Given the description of an element on the screen output the (x, y) to click on. 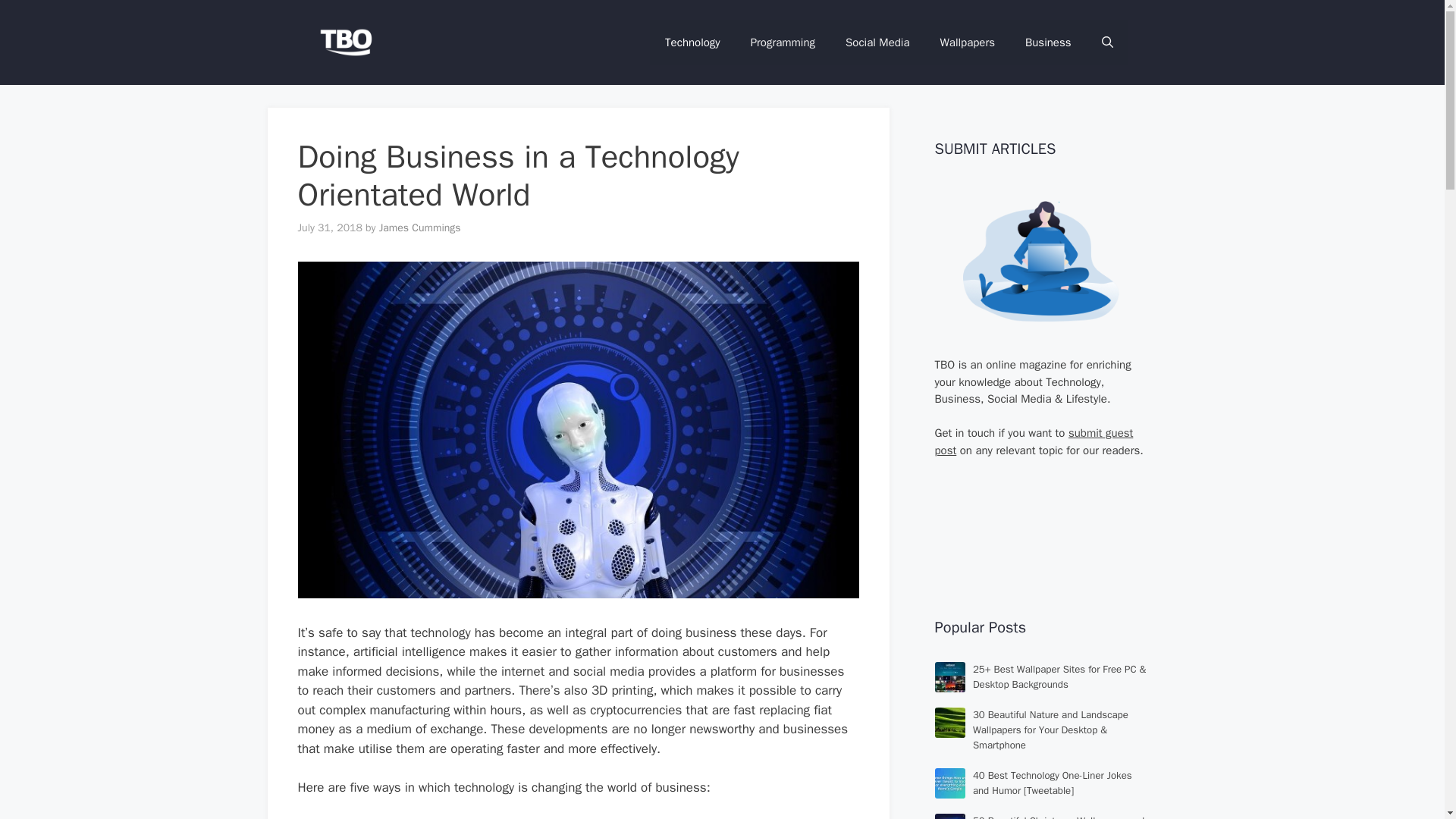
Wallpapers (967, 42)
50 Beautiful Christmas Wallpapers and Backgrounds (1058, 816)
View all posts by James Cummings (419, 227)
submit guest post (1033, 441)
Programming (782, 42)
Business (1048, 42)
writing (1040, 261)
James Cummings (419, 227)
Social Media (876, 42)
Technology (692, 42)
